Given the description of an element on the screen output the (x, y) to click on. 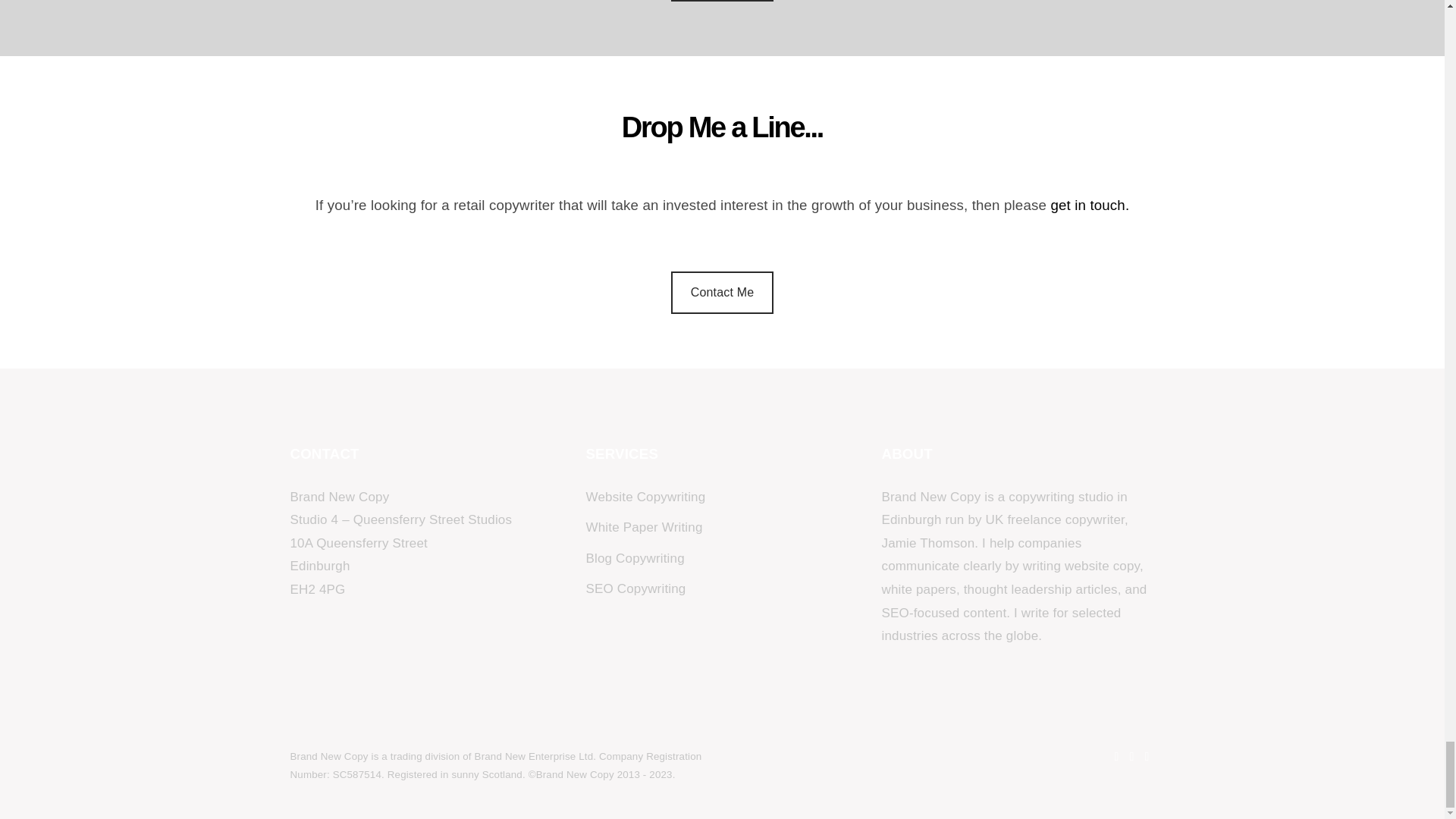
Drop Me a Line... (721, 146)
